Given the description of an element on the screen output the (x, y) to click on. 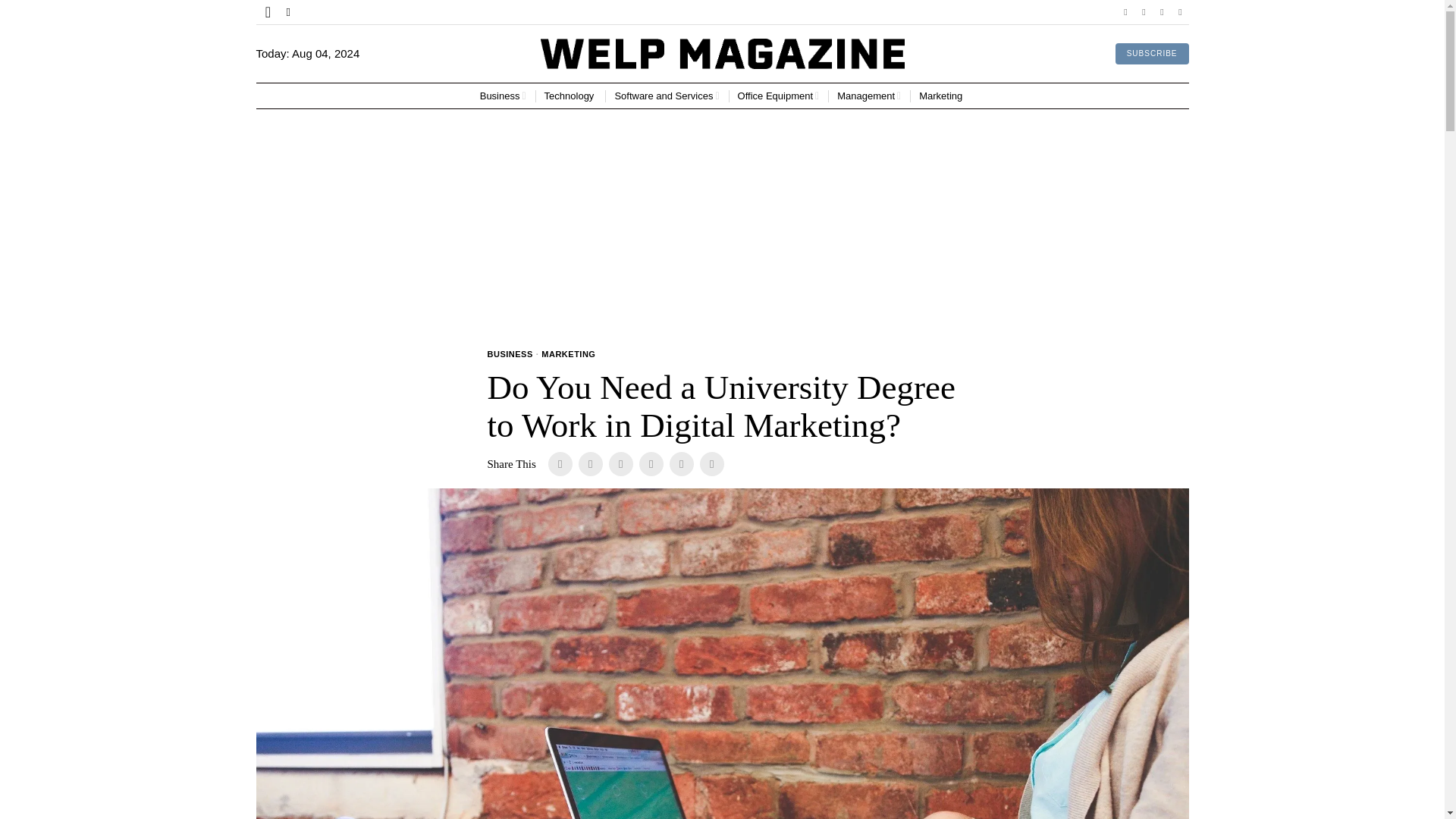
BUSINESS (509, 354)
MARKETING (568, 354)
Software and Services (666, 95)
Technology (570, 95)
Office Equipment (778, 95)
Business (502, 95)
Management (869, 95)
SUBSCRIBE (1152, 53)
Marketing (942, 95)
